Given the description of an element on the screen output the (x, y) to click on. 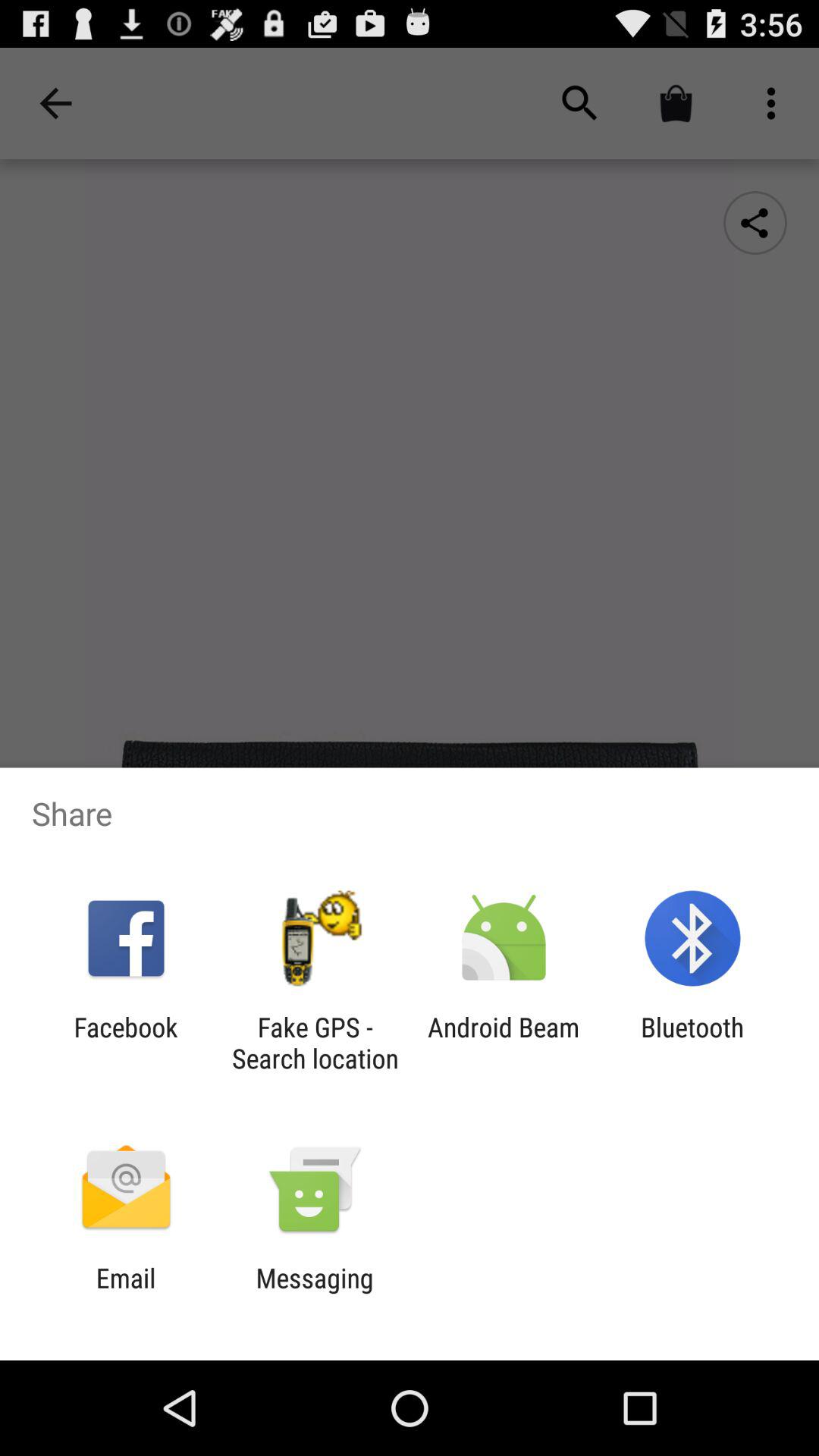
turn off icon to the right of facebook icon (314, 1042)
